Given the description of an element on the screen output the (x, y) to click on. 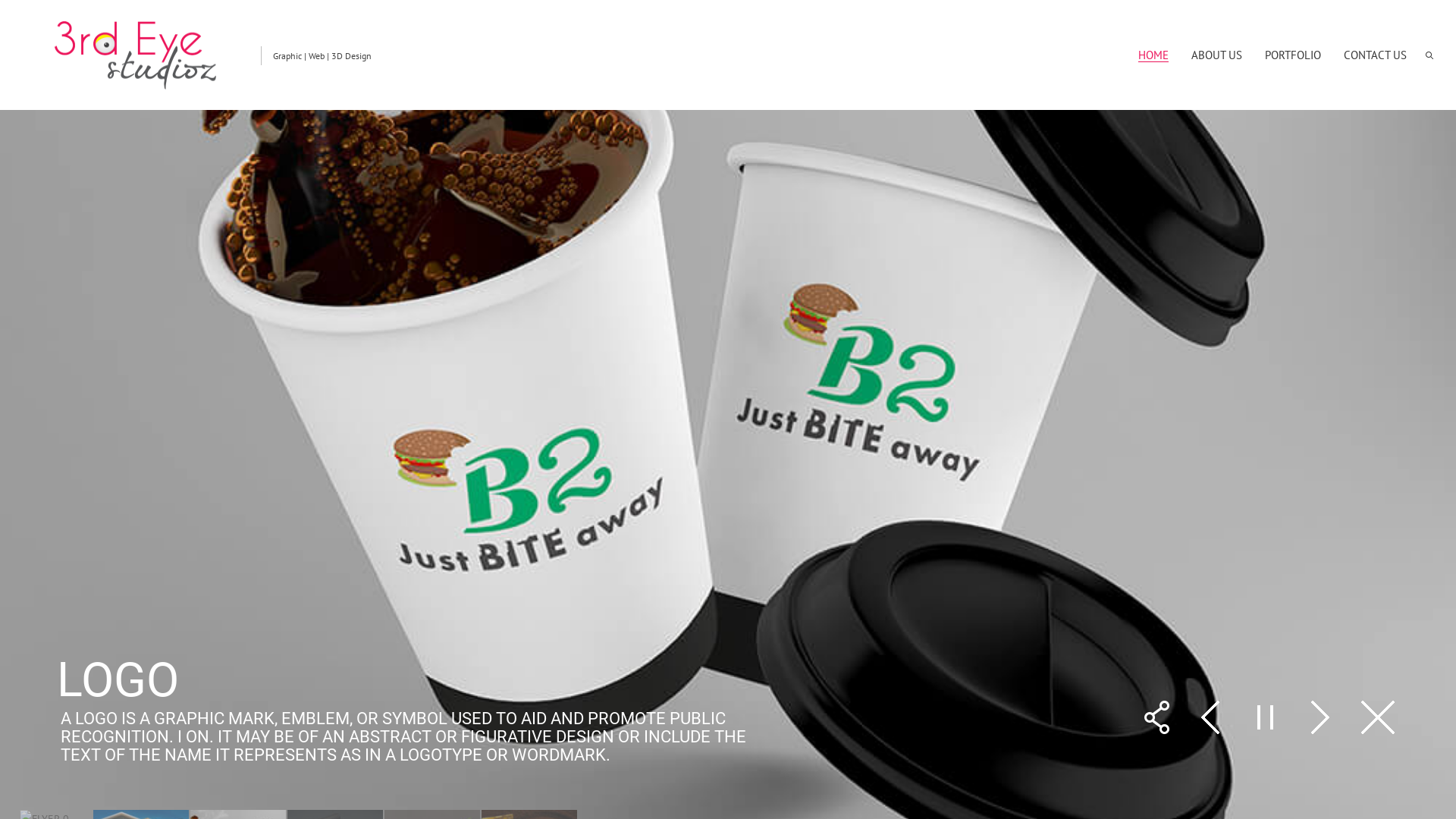
PORTFOLIO Element type: text (1292, 54)
ABOUT US Element type: text (1216, 54)
HOME Element type: text (1153, 54)
CONTACT US Element type: text (1374, 54)
